Given the description of an element on the screen output the (x, y) to click on. 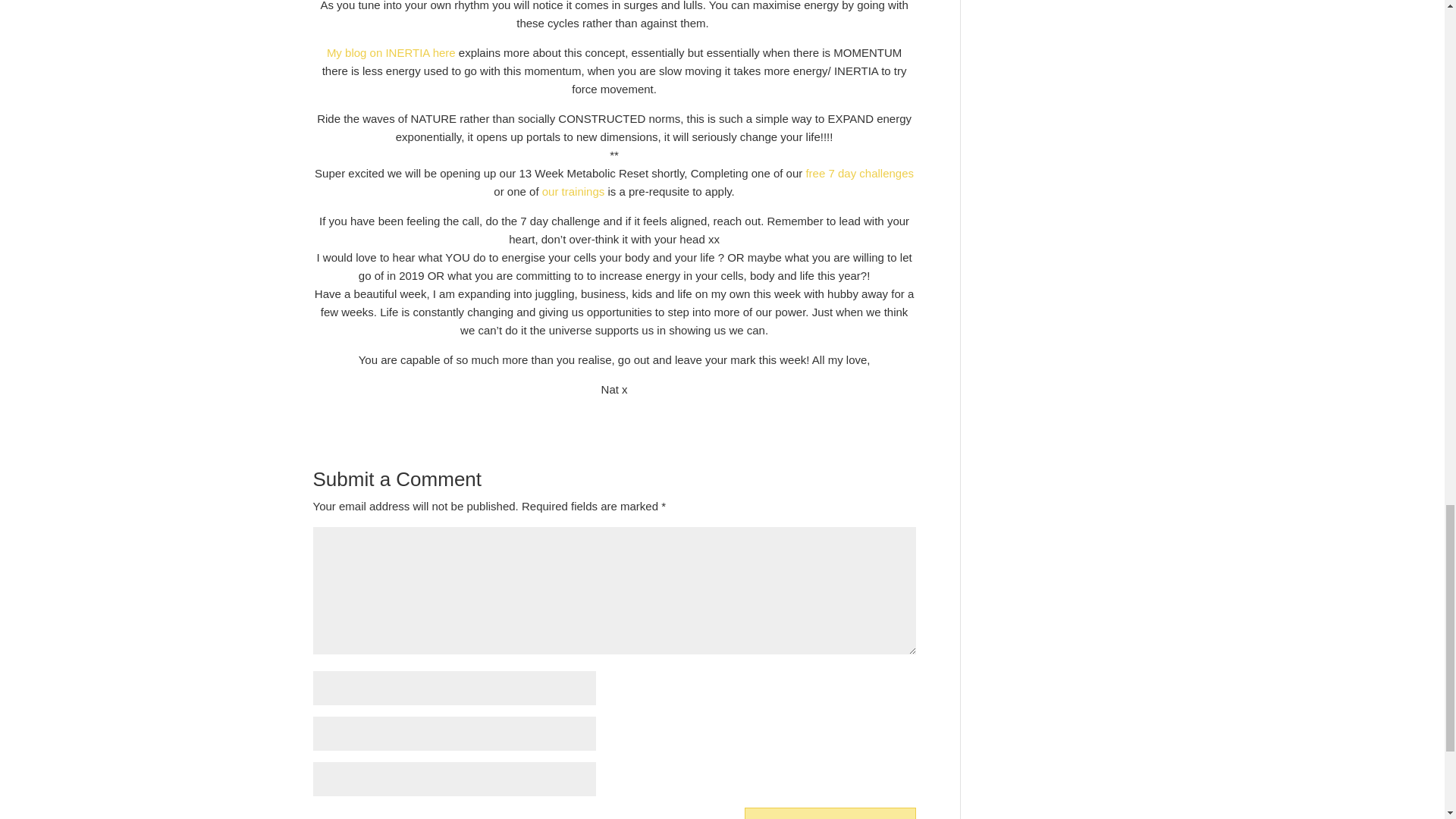
Submit Comment (829, 813)
our trainings (573, 191)
Submit Comment (829, 813)
free 7 day challenges (859, 173)
My blog on INERTIA here (390, 51)
